Given the description of an element on the screen output the (x, y) to click on. 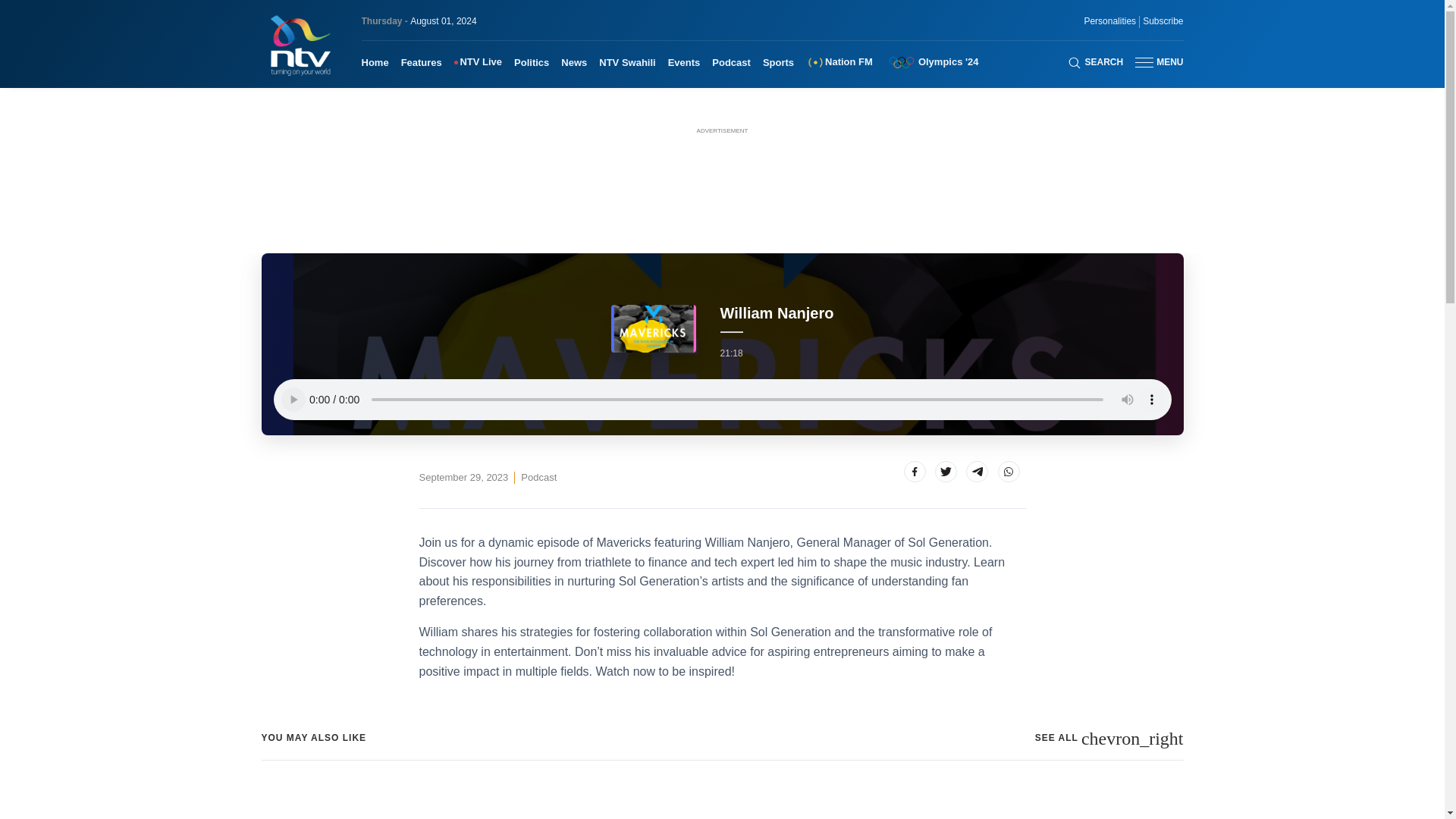
Telegram (977, 472)
Personalities (1109, 21)
William Nanjero (538, 477)
Features (421, 61)
WhatsApp (1008, 472)
Subscribe (1162, 21)
NTV Live (478, 61)
Twitter (945, 472)
Home (374, 61)
Politics (530, 61)
Facebook (915, 472)
